Given the description of an element on the screen output the (x, y) to click on. 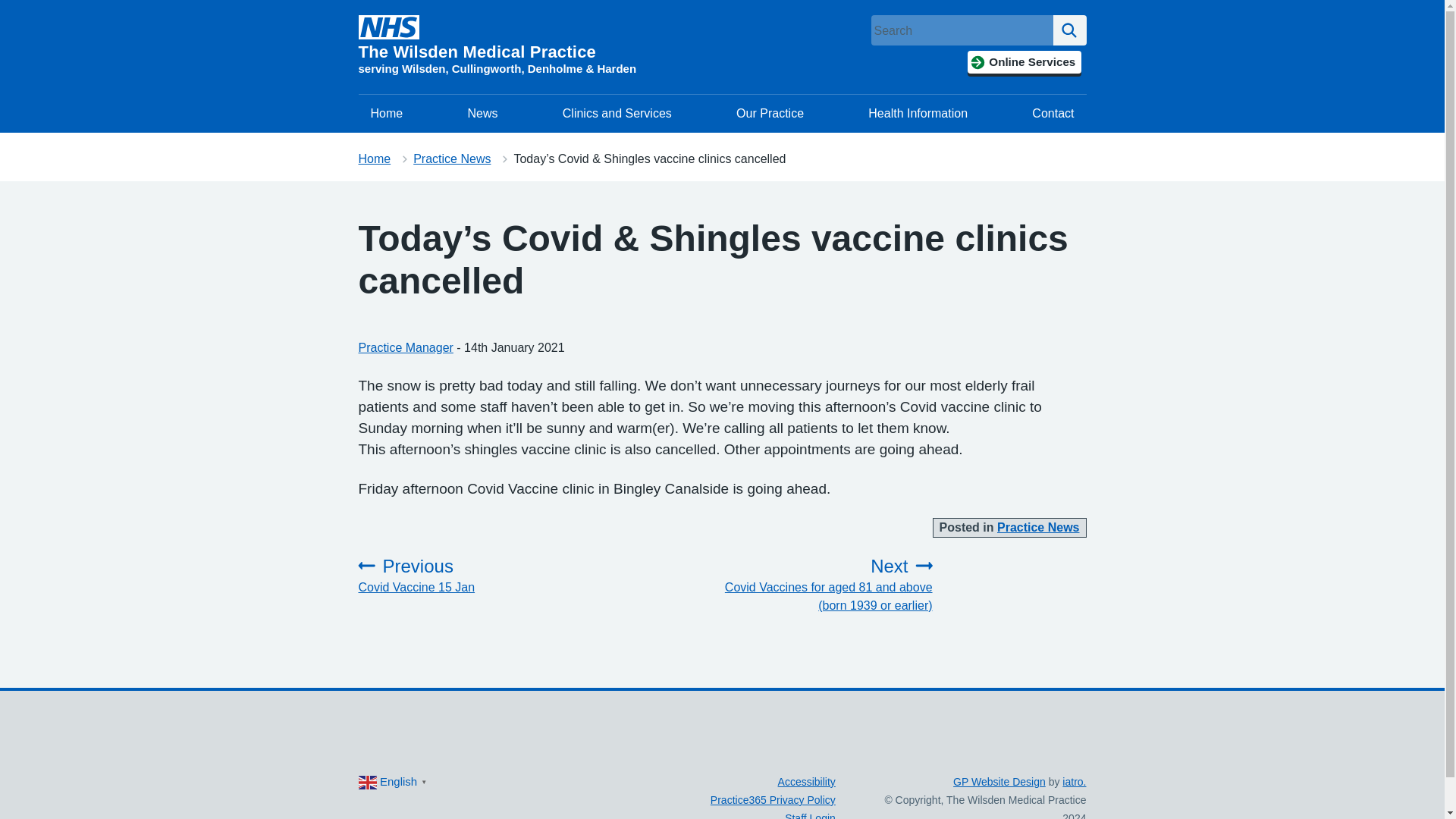
Contact (1053, 113)
Our Practice (467, 575)
GP Website Design (769, 113)
Home (999, 781)
Search (374, 158)
Accessibility (1069, 30)
Practice Manager (806, 781)
iatro. (405, 347)
Practice News (1074, 781)
NHS Logo (451, 158)
Practice News (388, 27)
Home (1038, 526)
Clinics and Services (386, 113)
Health Information (617, 113)
